Given the description of an element on the screen output the (x, y) to click on. 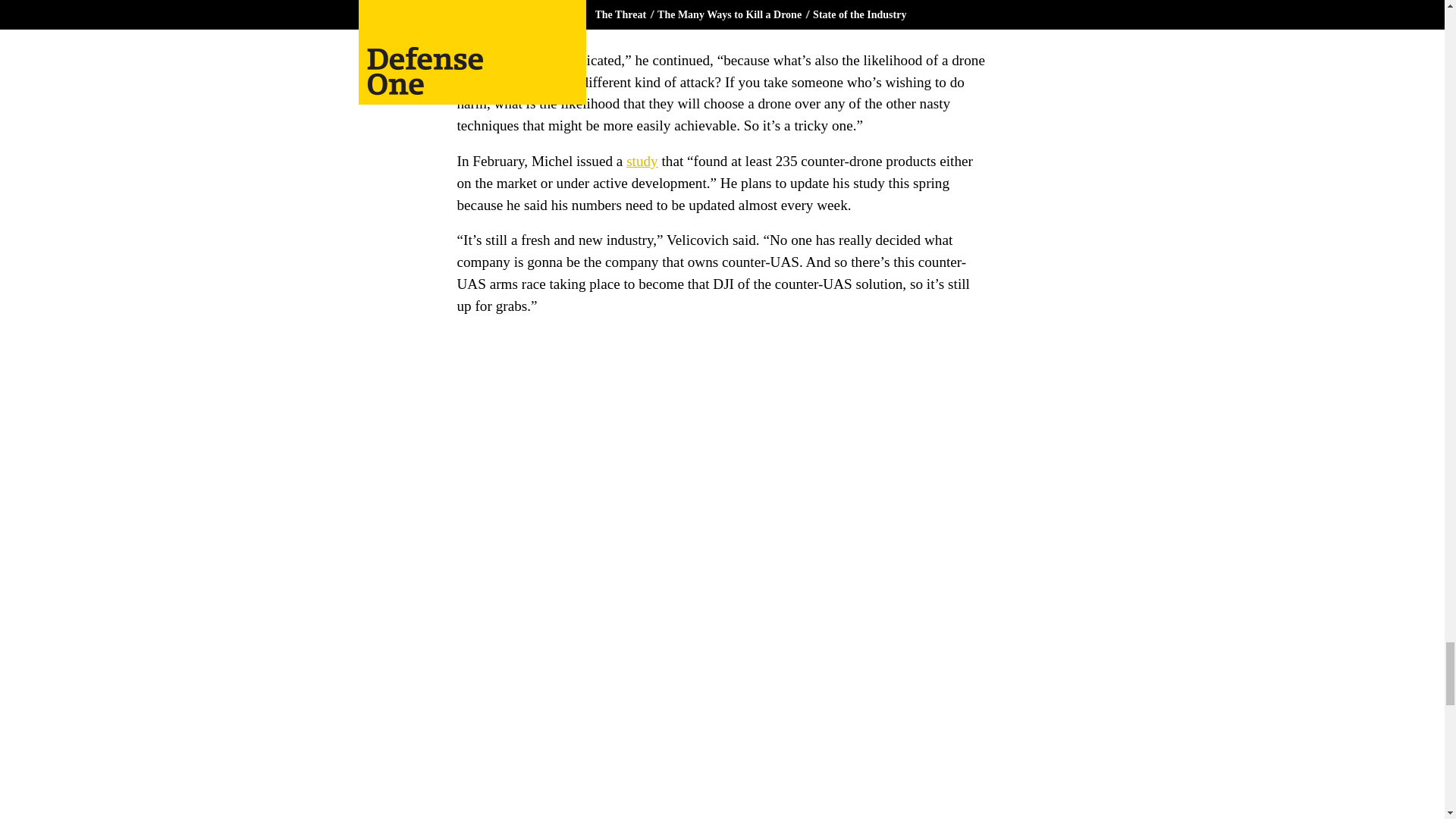
study (642, 160)
